Given the description of an element on the screen output the (x, y) to click on. 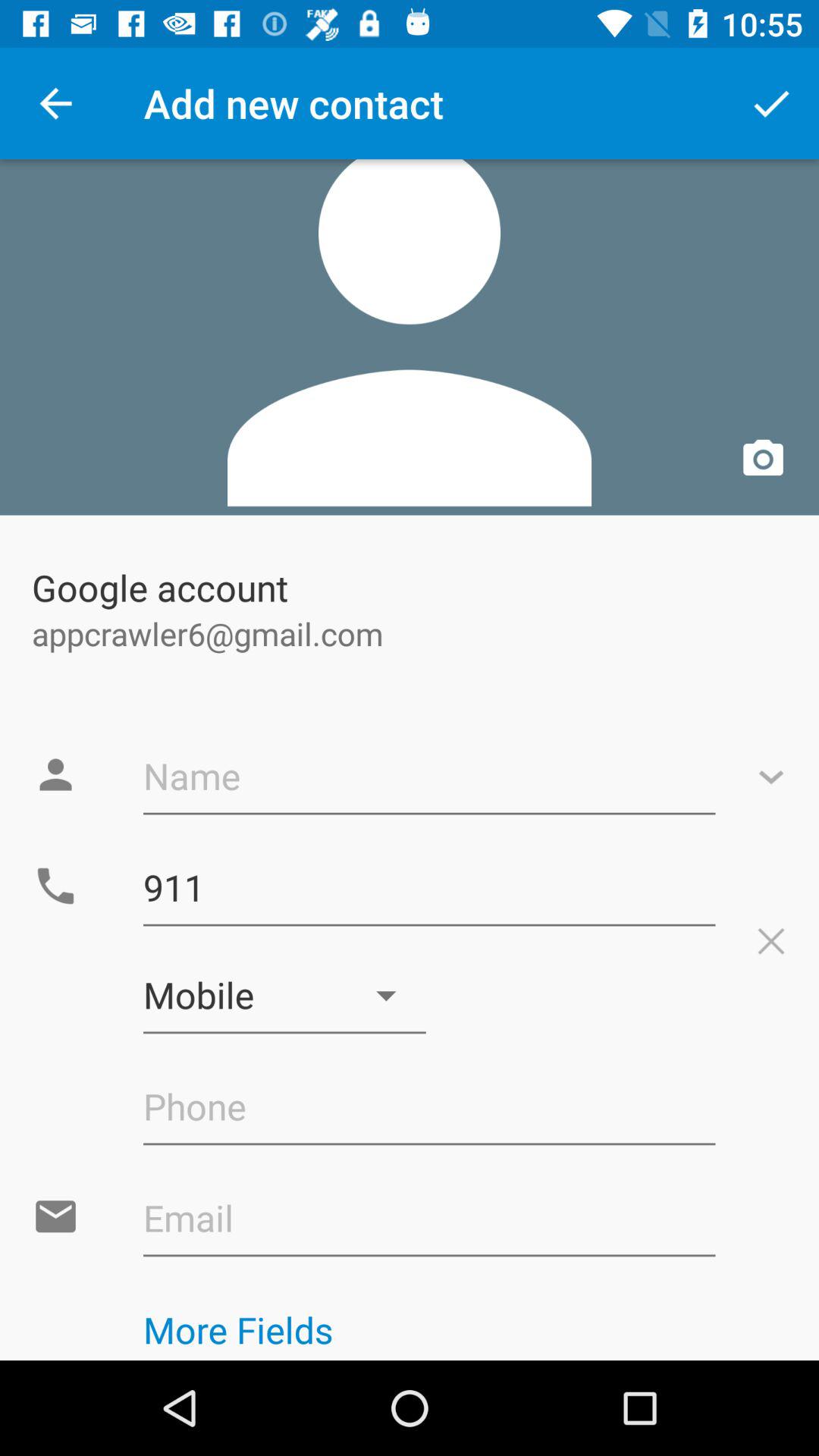
click on the camera icon at top right corner of image (763, 459)
click on mobile field (284, 995)
icon shown left to 911 (55, 885)
